Given the description of an element on the screen output the (x, y) to click on. 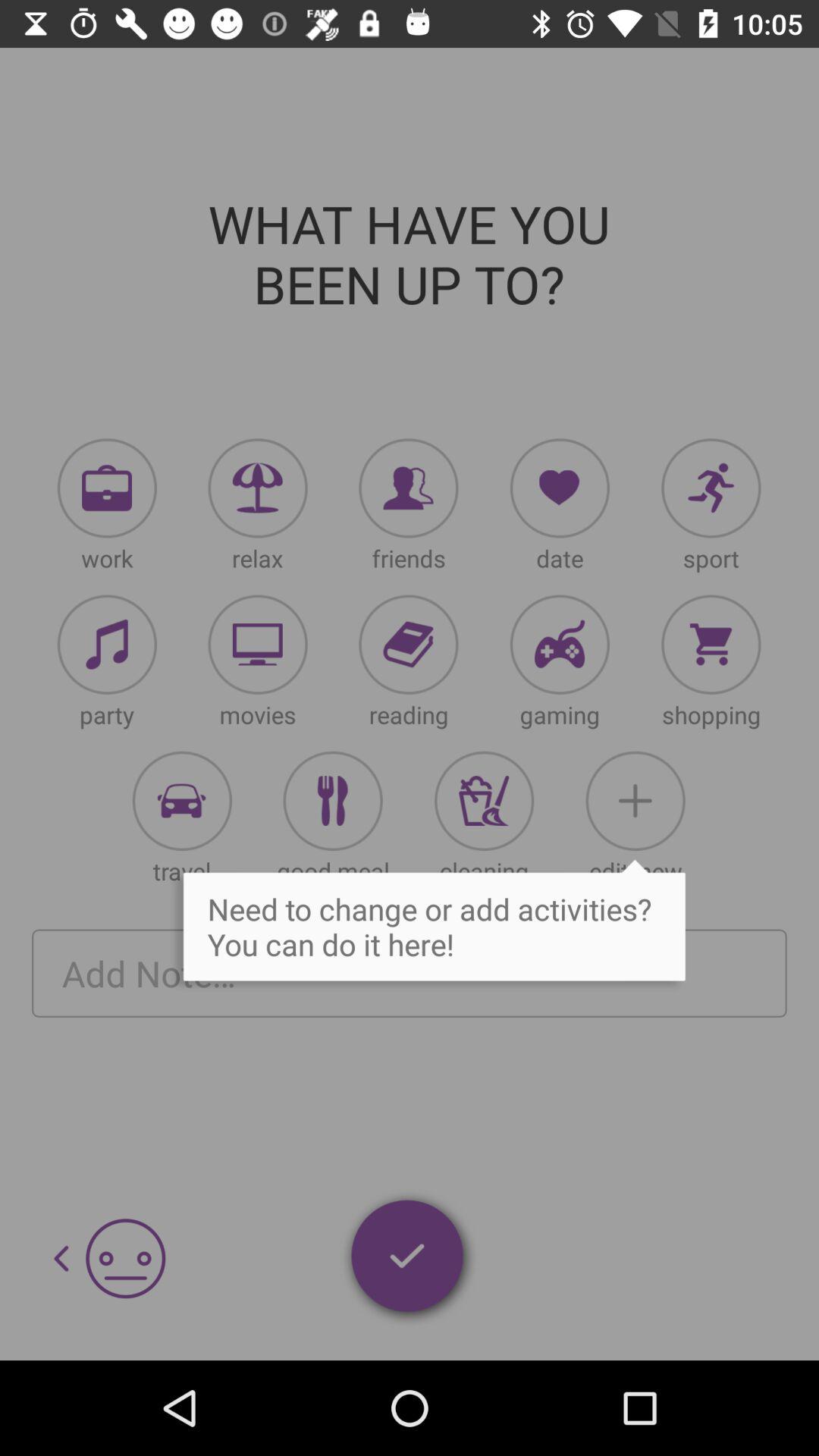
gaming activity (559, 644)
